Given the description of an element on the screen output the (x, y) to click on. 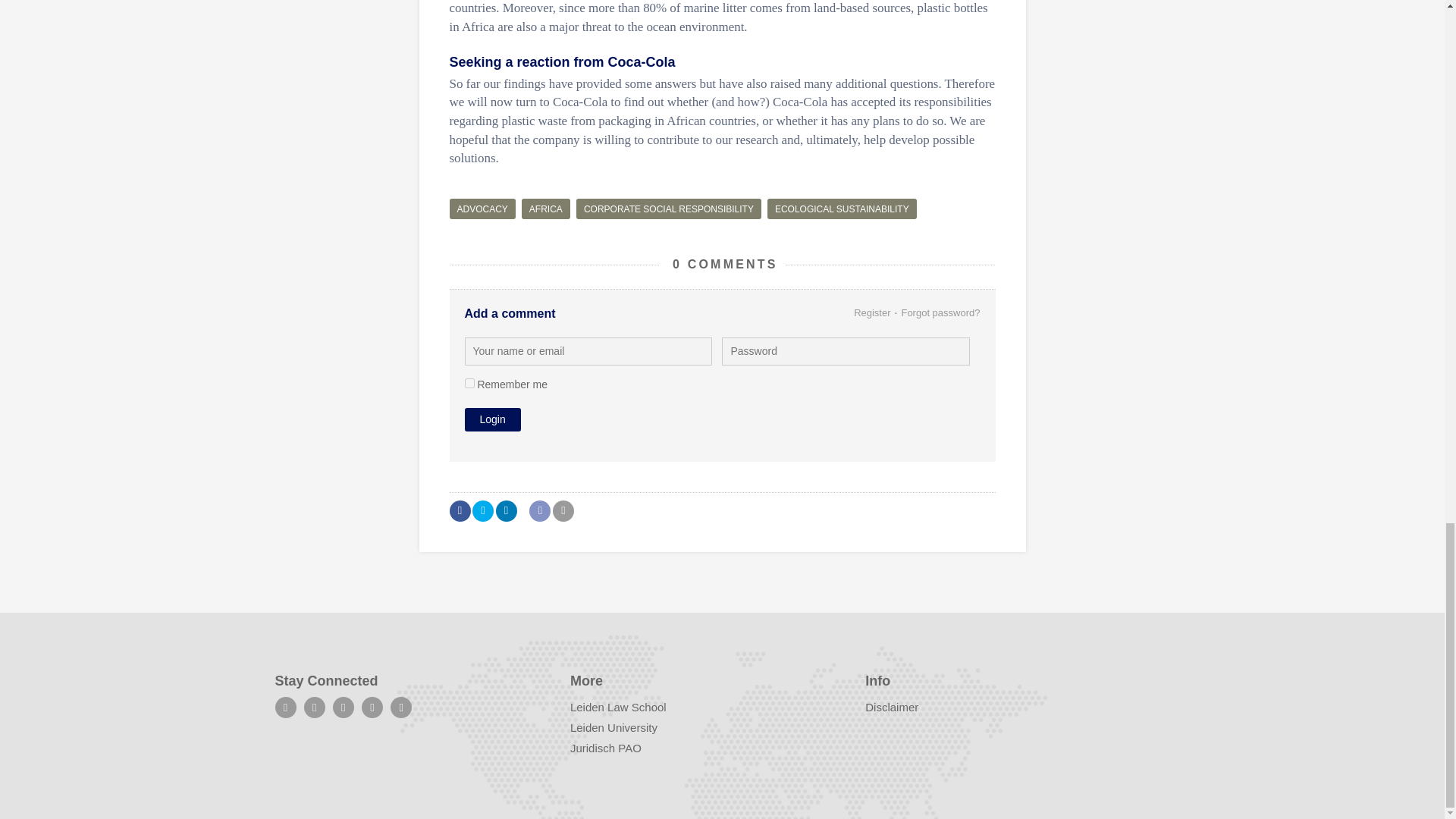
ADVOCACY (481, 209)
AFRICA (545, 209)
Print (563, 510)
ECOLOGICAL SUSTAINABILITY (842, 209)
CORPORATE SOCIAL RESPONSIBILITY (668, 209)
1 (469, 383)
Register (871, 312)
Login (491, 419)
